Given the description of an element on the screen output the (x, y) to click on. 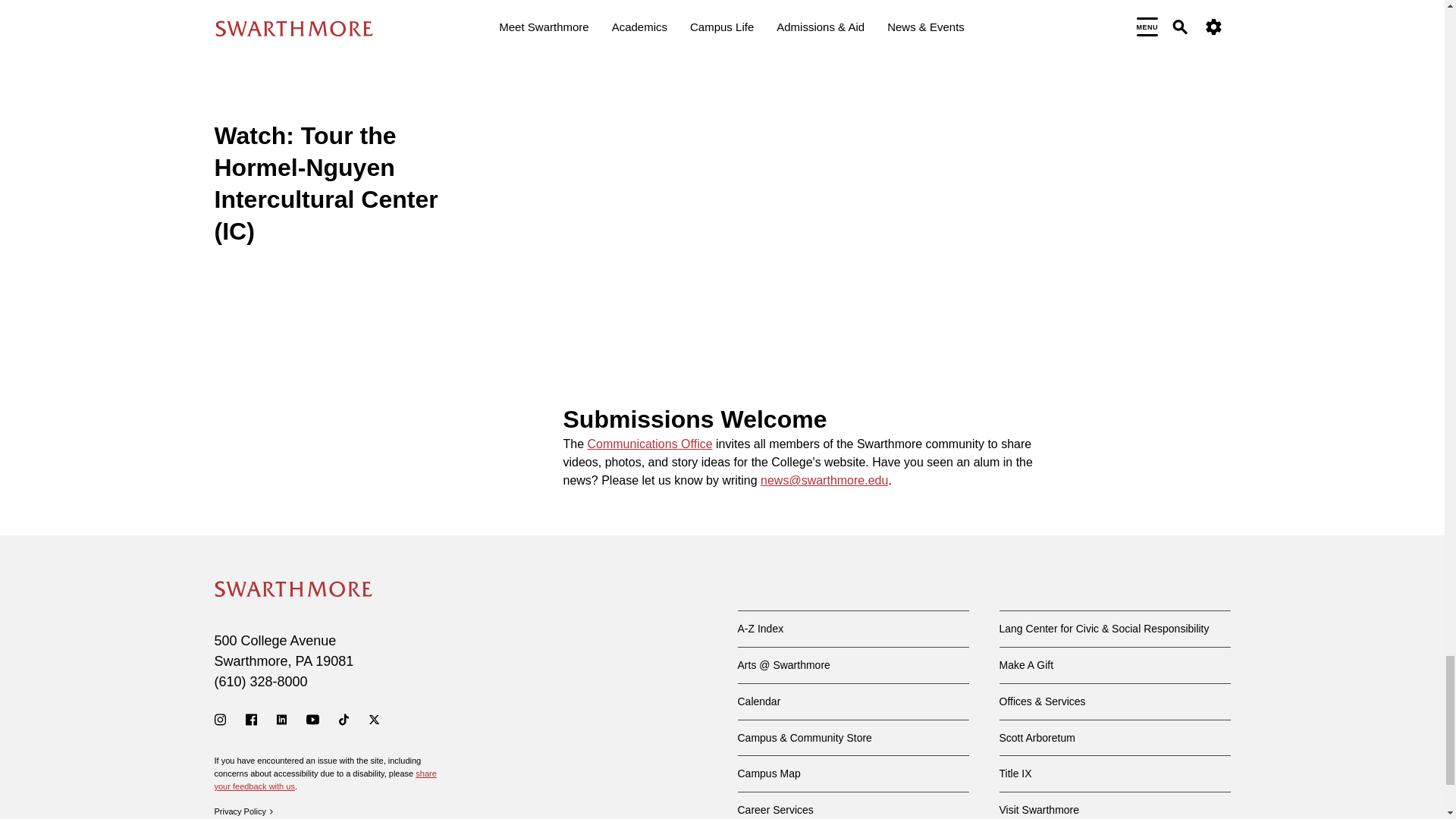
Swarthmore College - Home (292, 588)
YouTube (311, 719)
Instagram (219, 719)
Facebook (251, 719)
